Given the description of an element on the screen output the (x, y) to click on. 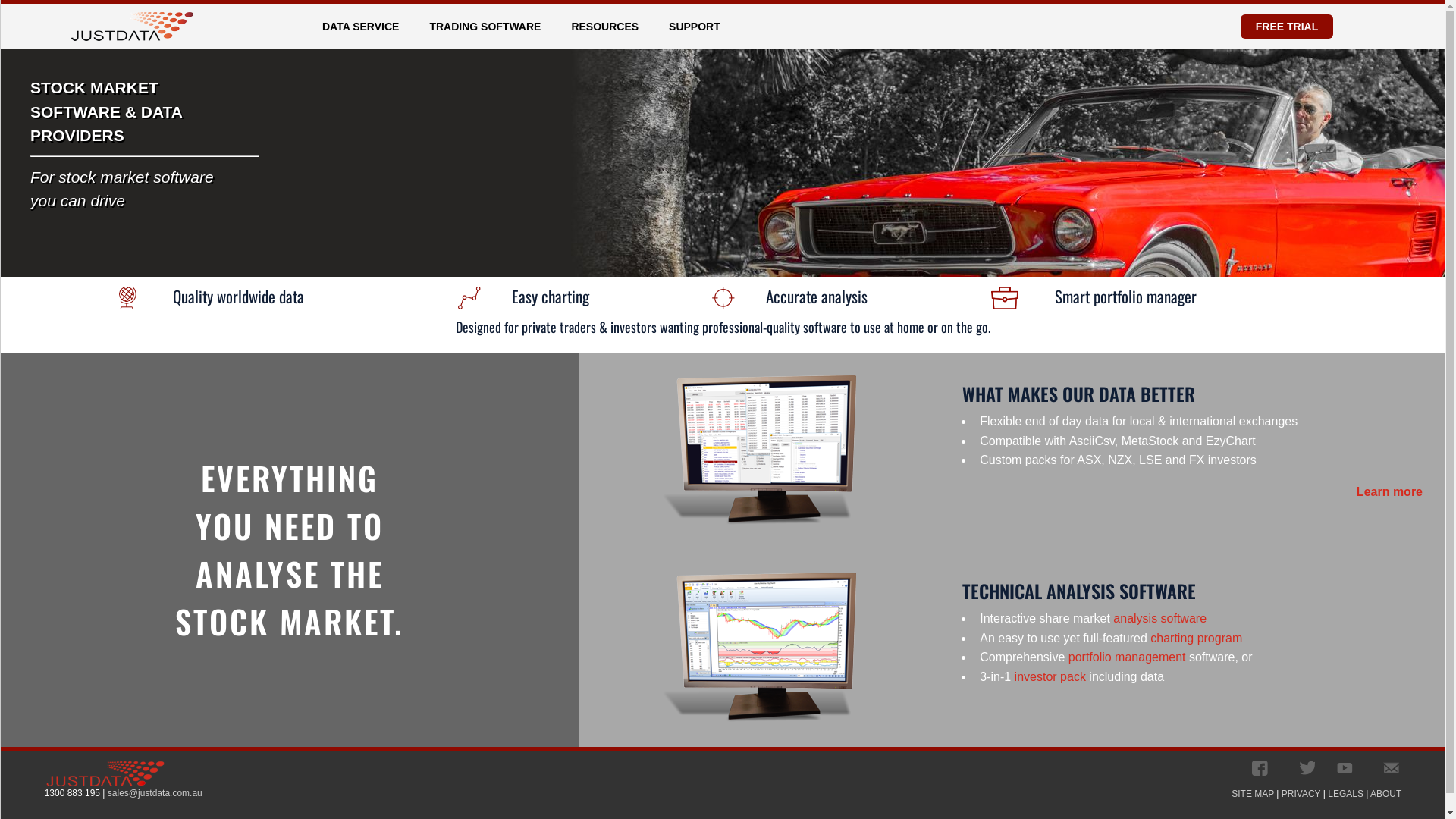
RESOURCES Element type: text (609, 26)
  Element type: text (1306, 767)
SITE MAP Element type: text (1252, 793)
Email JustData Element type: hover (1391, 767)
Learn more Element type: text (1389, 491)
ABOUT Element type: text (1385, 793)
Smart Portfolio Manager Element type: hover (1004, 297)
analysis software Element type: text (1159, 617)
Electronic Information Solutions Pty Ltd trading as JustData Element type: hover (105, 773)
PRIVACY Element type: text (1301, 793)
investor pack Element type: text (1049, 676)
LEGALS Element type: text (1345, 793)
Home Page Element type: hover (132, 26)
SUPPORT Element type: text (699, 26)
Accurate Analysis Element type: hover (725, 297)
  Element type: text (1344, 767)
TRADING SOFTWARE Element type: text (489, 26)
Home Page Element type: hover (132, 19)
JustData's YouTube Channel Element type: hover (1344, 767)
Data download Software Element type: hover (759, 451)
JustData's Tweets Element type: hover (1306, 767)
portfolio management Element type: text (1127, 656)
FREE TRIAL Element type: text (1286, 26)
charting program Element type: text (1196, 637)
  Element type: text (1259, 767)
Easy Charting Element type: hover (470, 297)
JustData's Facebook Page Element type: hover (1259, 767)
sales@justdata.com.au Element type: text (154, 792)
Quality Worldwide Data Element type: hover (129, 297)
  Element type: text (1391, 767)
DATA SERVICE Element type: text (365, 26)
Charting & Analysis Software Element type: hover (759, 648)
Stock Market Software you can drive Element type: hover (995, 162)
